Given the description of an element on the screen output the (x, y) to click on. 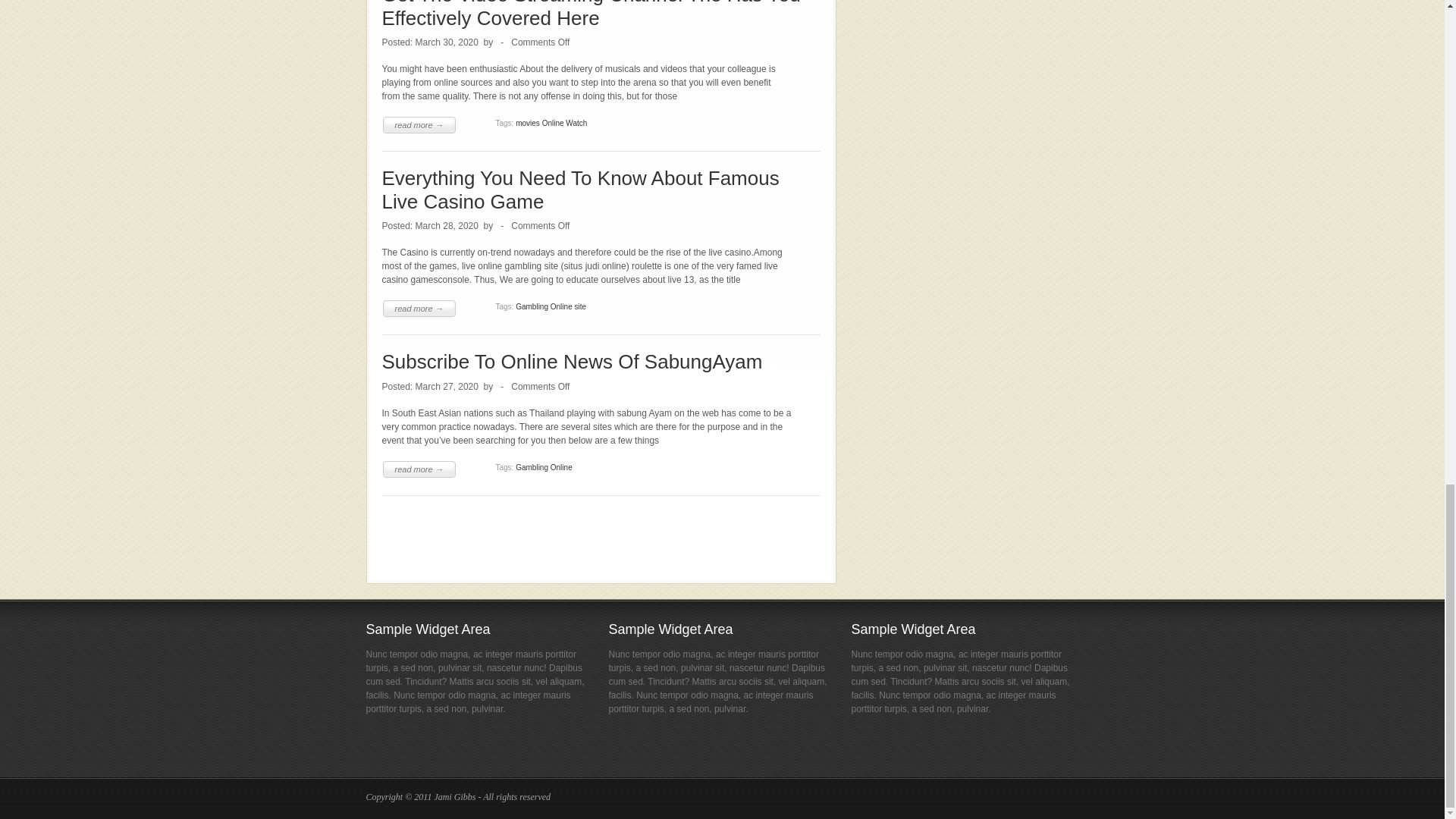
movies (527, 122)
Permanent Link to Subscribe To Online News Of SabungAyam (571, 361)
Online (552, 122)
Everything You Need To Know About Famous Live Casino Game (579, 189)
Watch (576, 122)
